Given the description of an element on the screen output the (x, y) to click on. 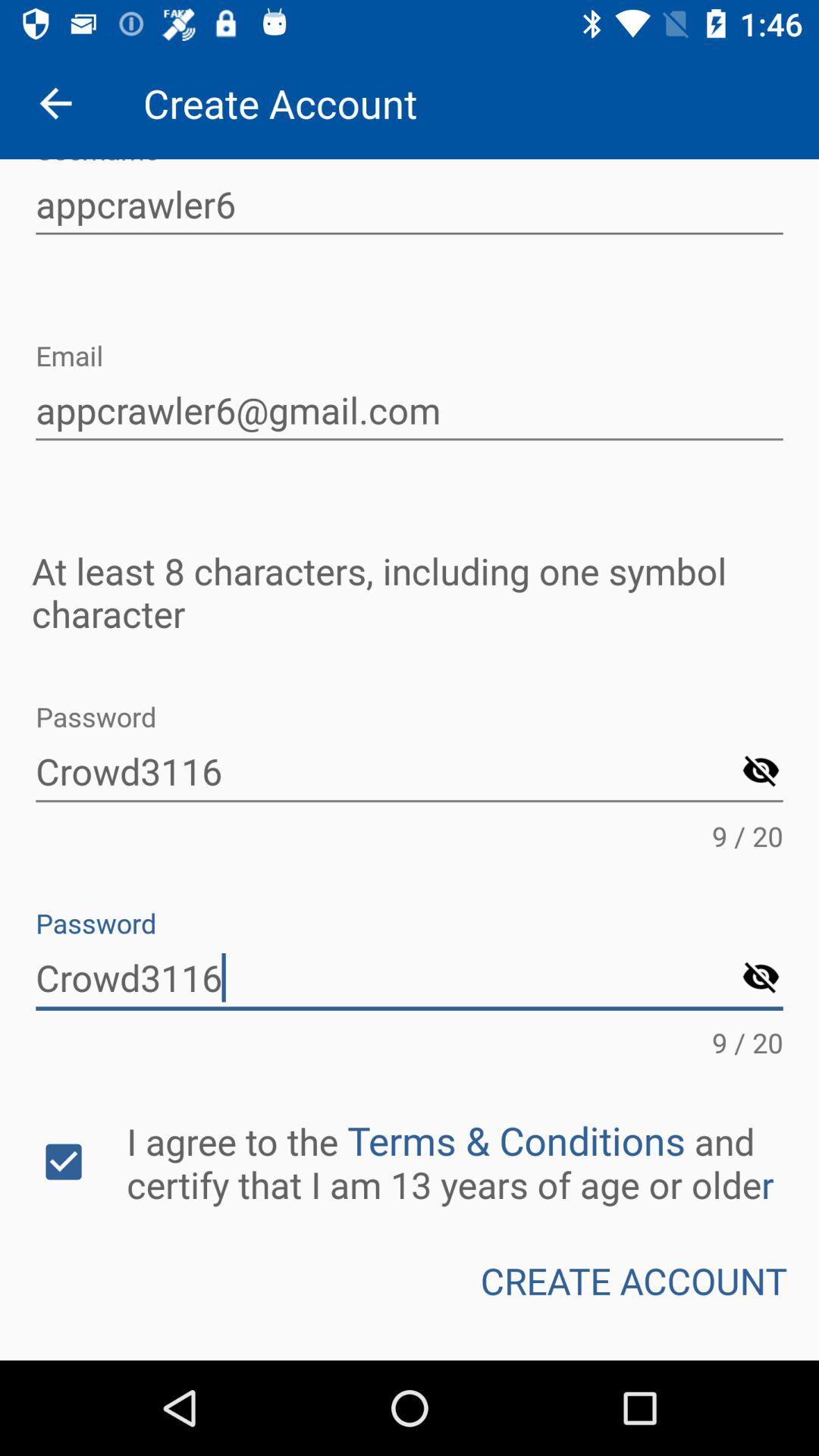
password page (761, 771)
